Given the description of an element on the screen output the (x, y) to click on. 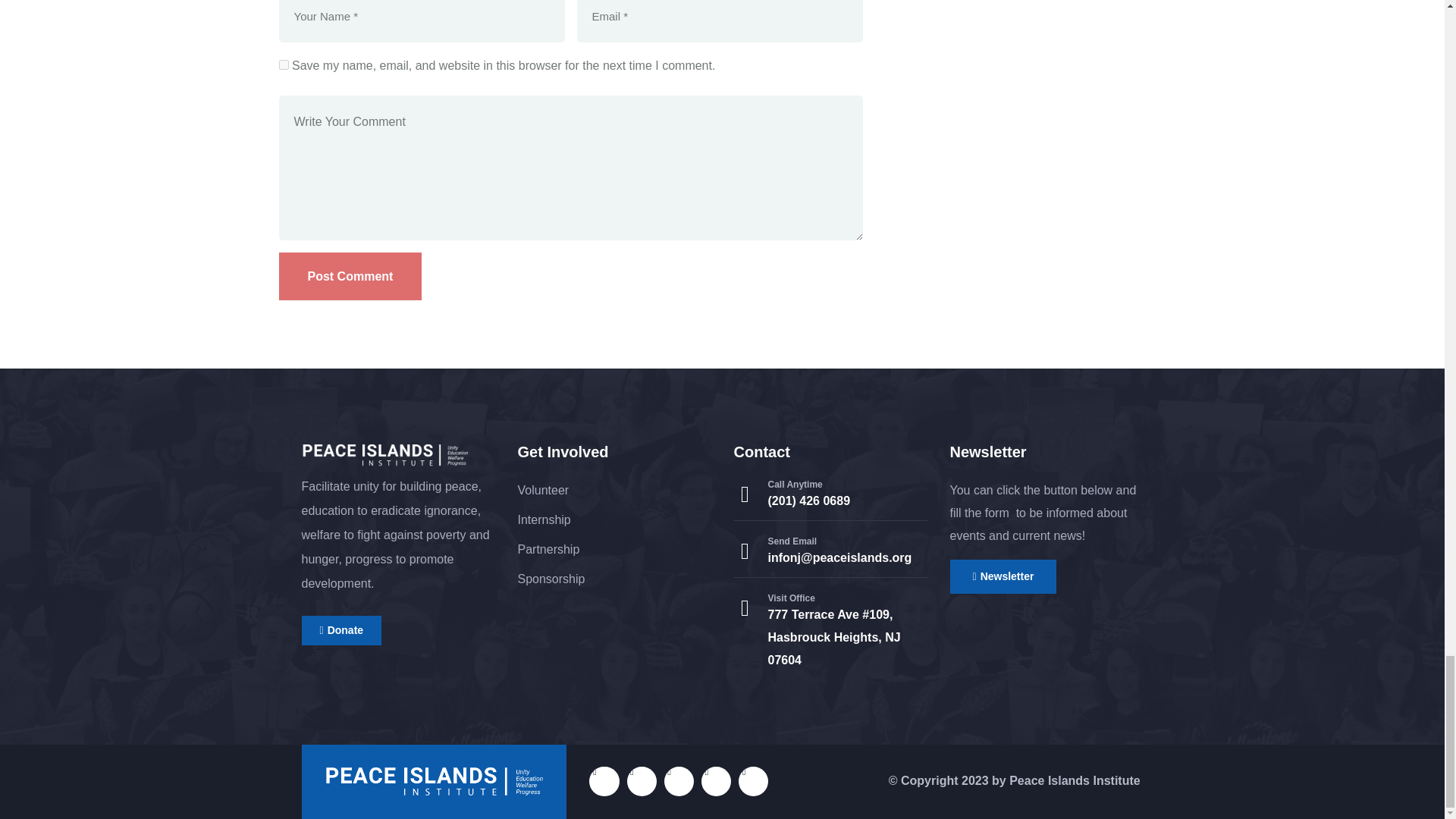
Home (384, 455)
Post Comment (350, 276)
yes (283, 64)
